Given the description of an element on the screen output the (x, y) to click on. 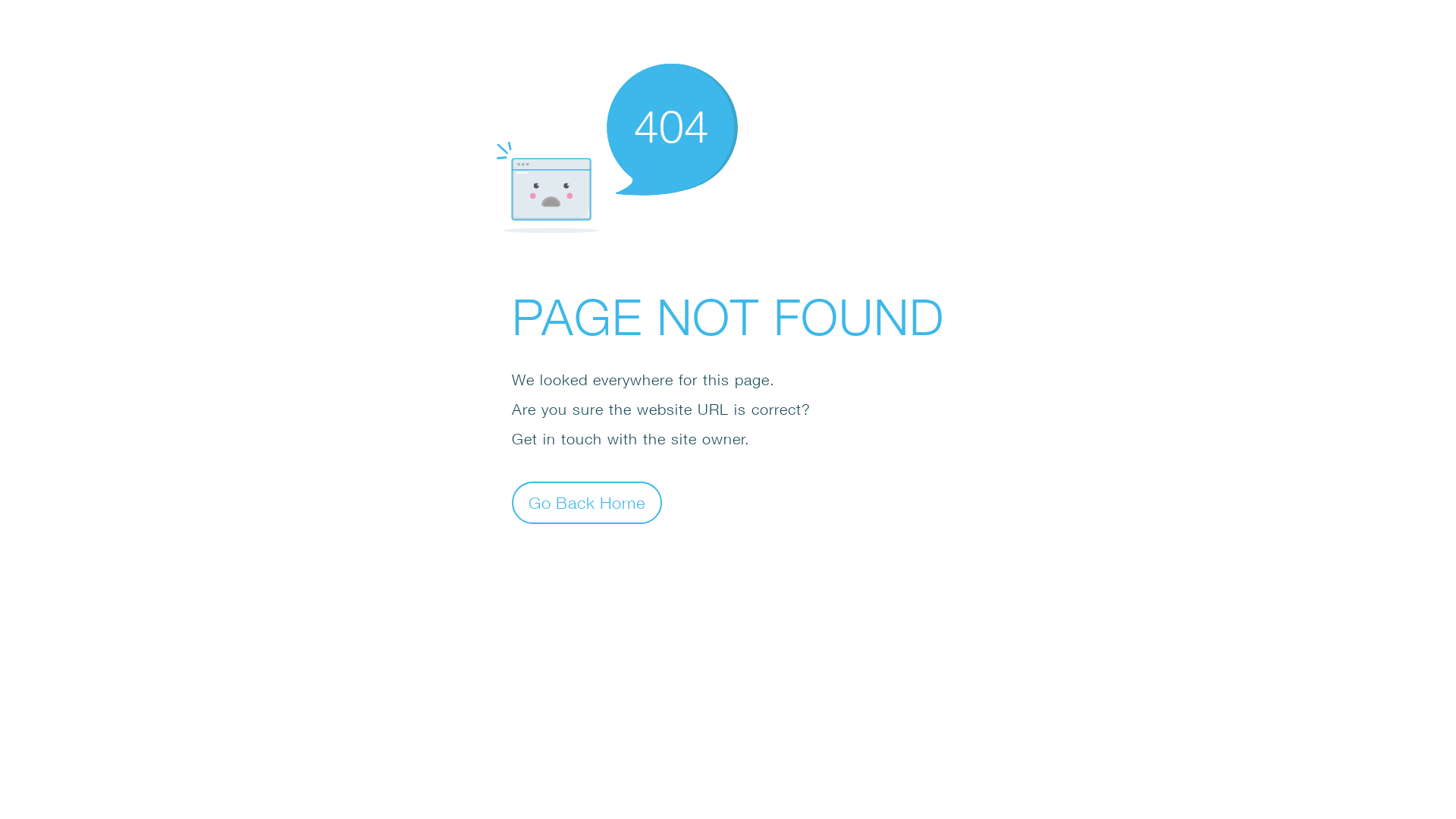
Go Back Home Element type: text (586, 502)
